Given the description of an element on the screen output the (x, y) to click on. 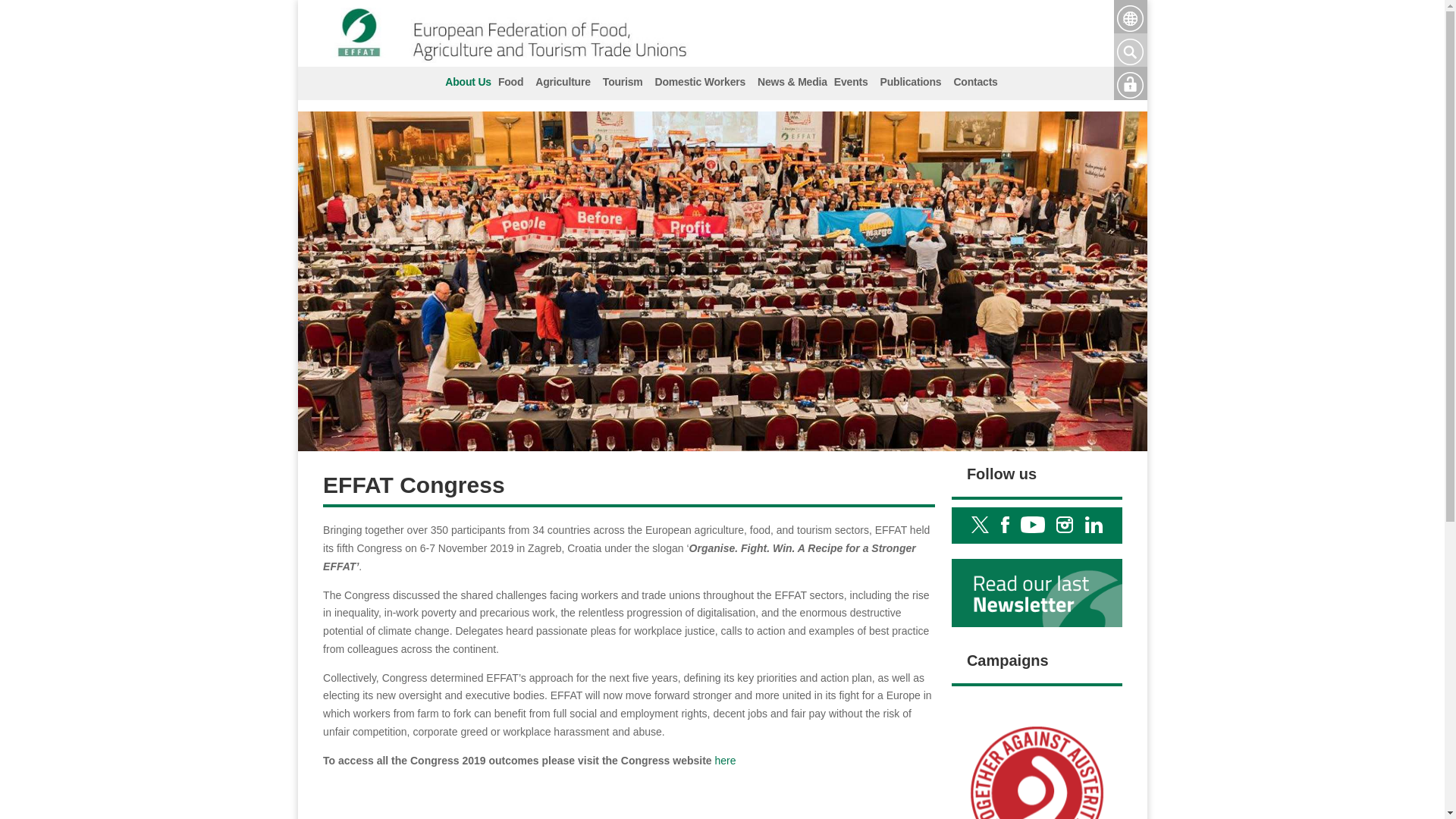
Domestic Workers (700, 82)
Publications (911, 82)
On-the-road-for-a-fair-deal-for-workers (1037, 756)
Agriculture (562, 82)
Contacts (975, 82)
Events (850, 82)
Tourism (621, 82)
About Us (465, 82)
Food (510, 82)
